Given the description of an element on the screen output the (x, y) to click on. 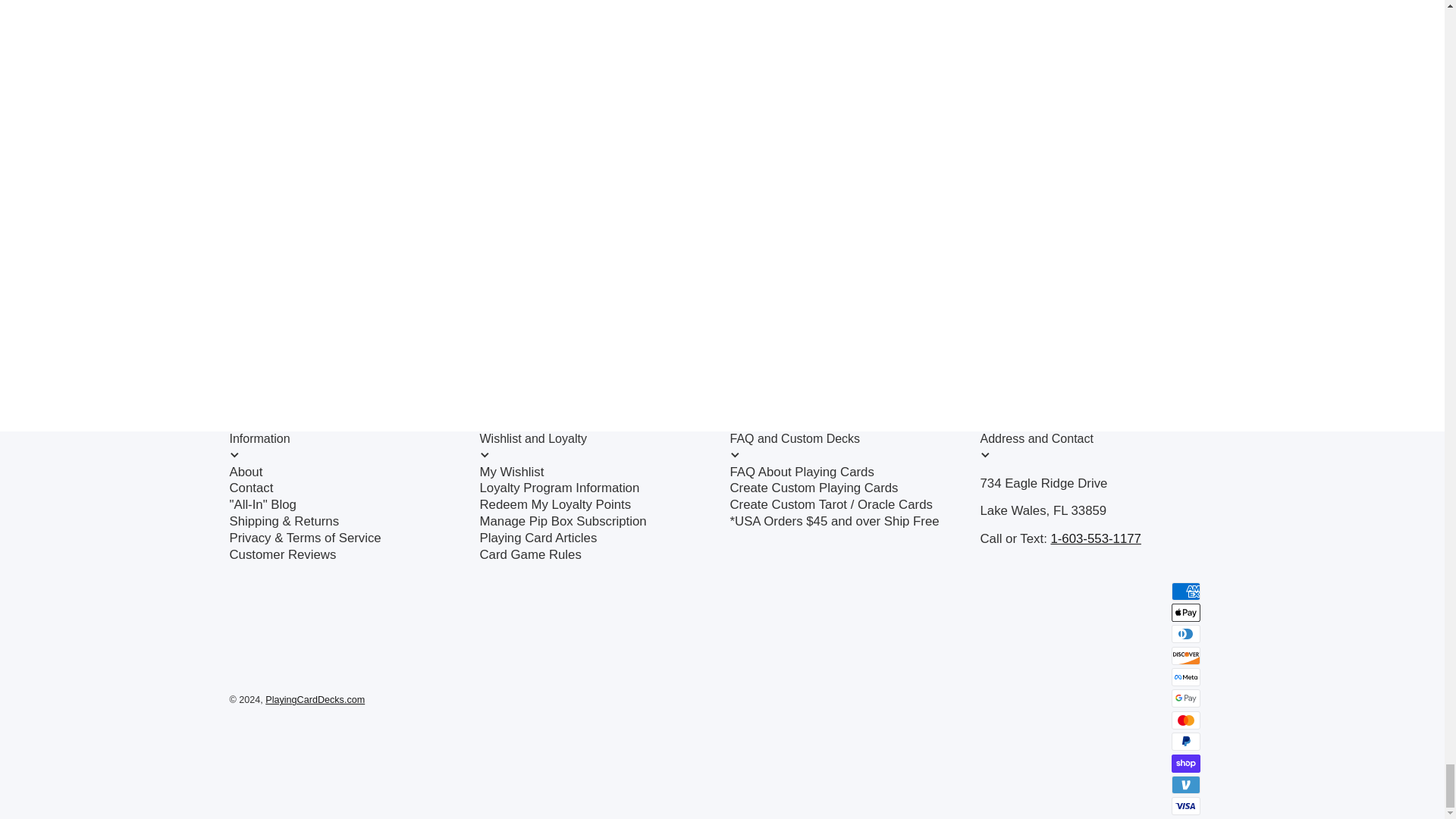
Discover (1184, 656)
Apple Pay (1184, 612)
Diners Club (1184, 633)
Mastercard (1184, 720)
Meta Pay (1184, 677)
Venmo (1184, 784)
PayPal (1184, 741)
Shop Pay (1184, 763)
Visa (1184, 805)
American Express (1184, 591)
